Given the description of an element on the screen output the (x, y) to click on. 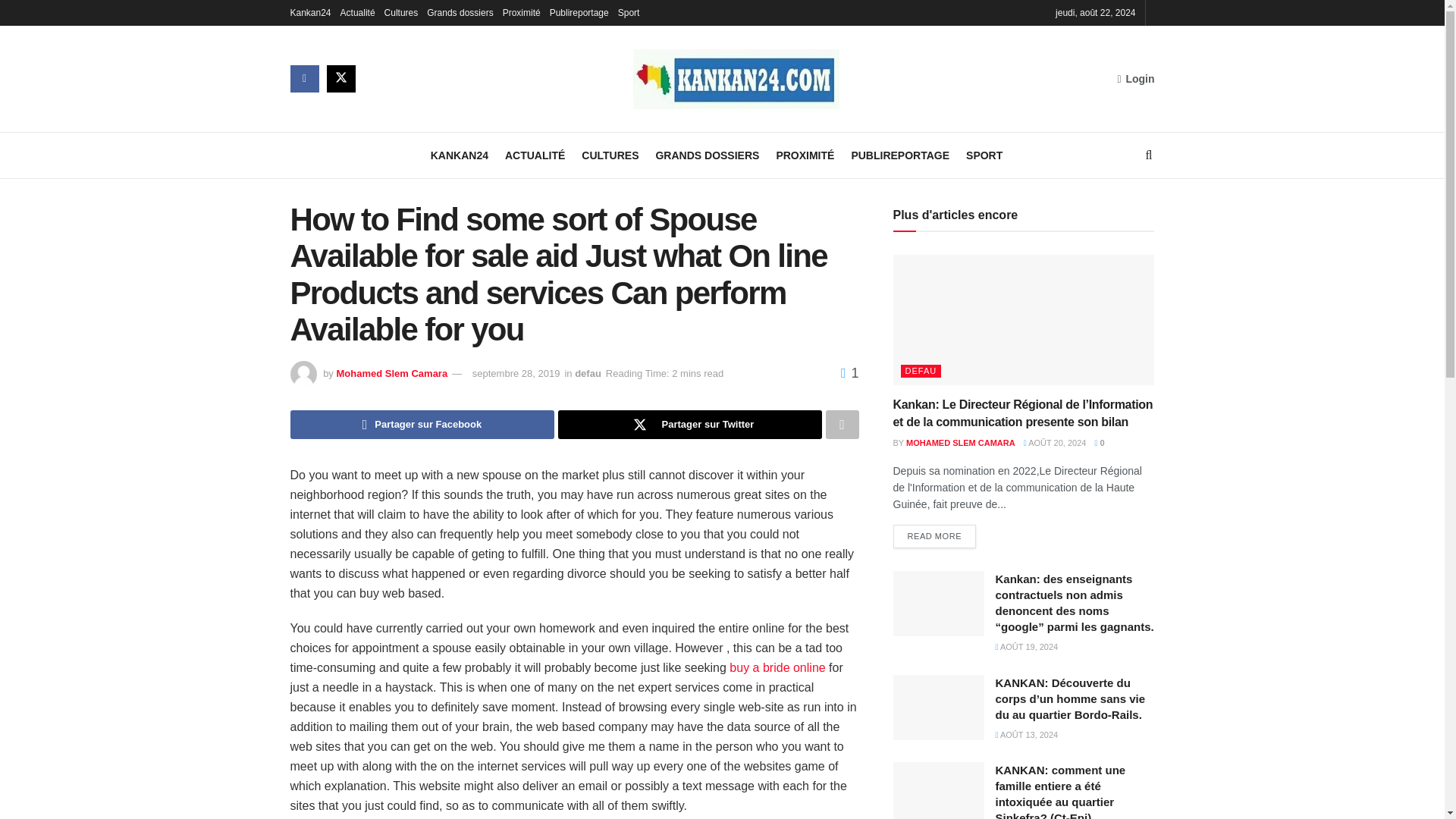
Partager sur Twitter (689, 424)
Publireportage (579, 12)
septembre 28, 2019 (515, 373)
SPORT (984, 155)
defau (588, 373)
Mohamed Slem Camara (391, 373)
Grands dossiers (459, 12)
GRANDS DOSSIERS (706, 155)
PUBLIREPORTAGE (899, 155)
Kankan24 (309, 12)
